Given the description of an element on the screen output the (x, y) to click on. 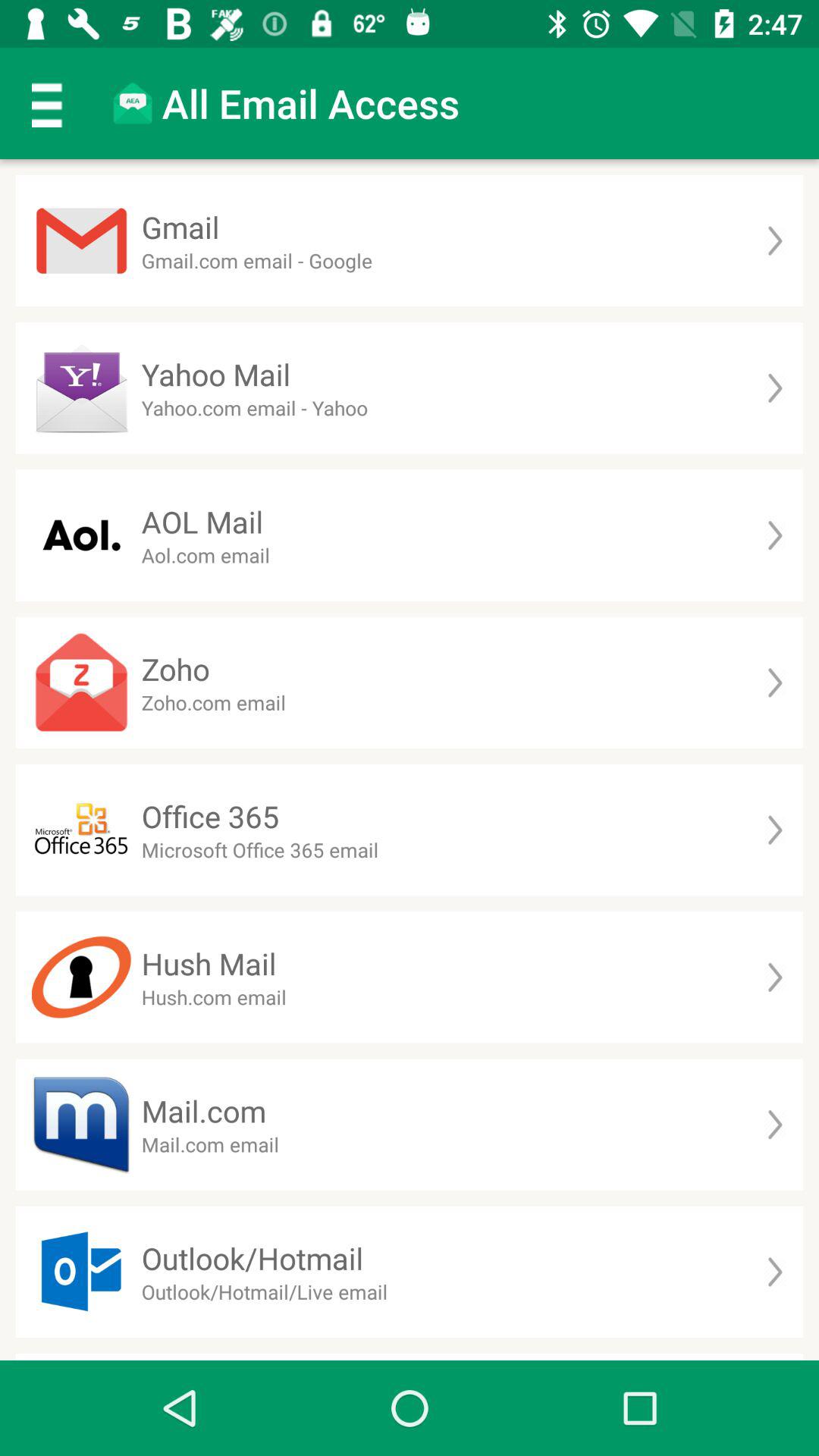
select item above aol.com email item (202, 521)
